Given the description of an element on the screen output the (x, y) to click on. 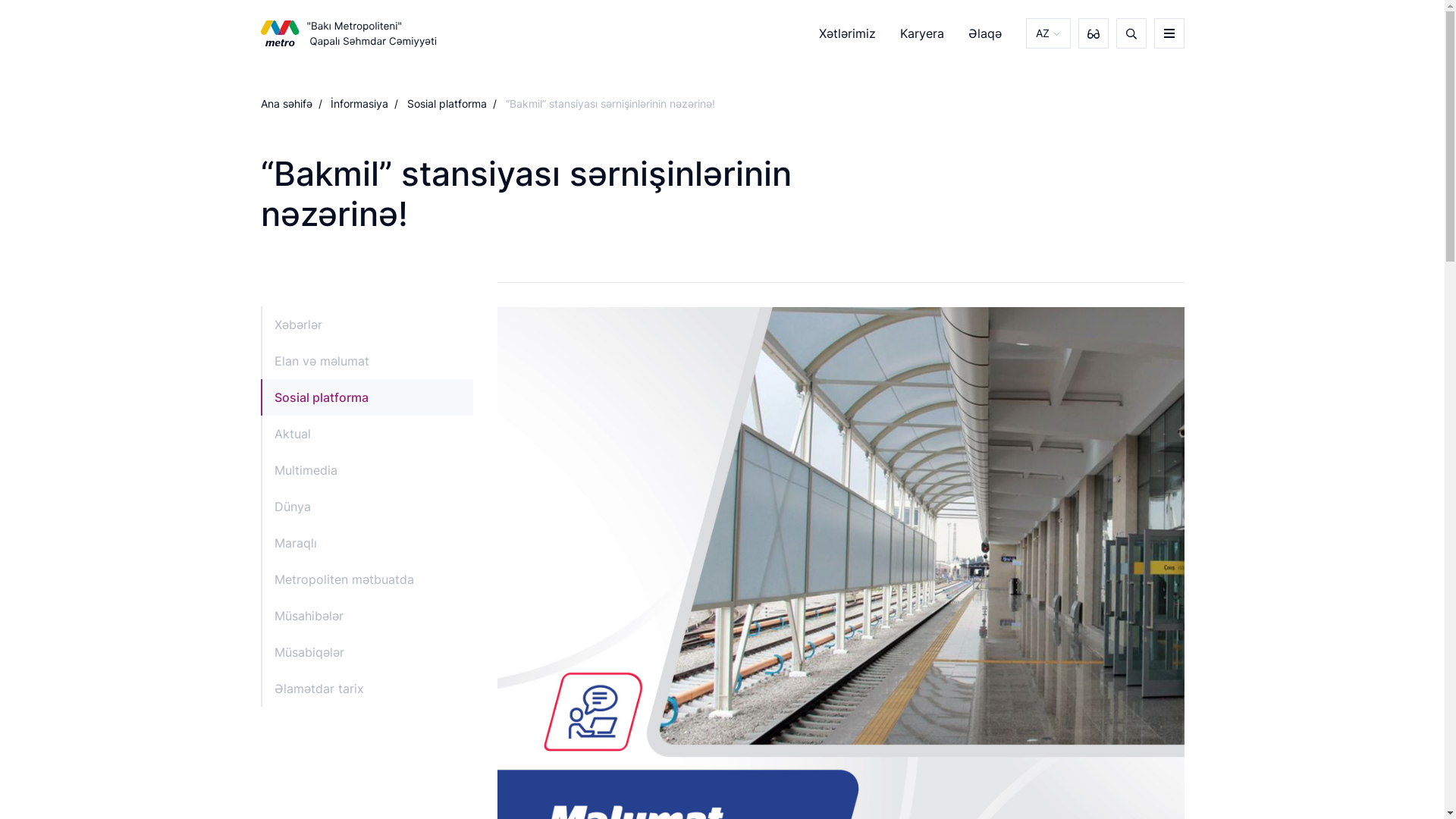
Sosial platforma Element type: text (366, 397)
AZ Element type: text (1047, 33)
Karyera Element type: text (921, 32)
Aktual Element type: text (366, 433)
Multimedia Element type: text (366, 469)
Sosial platforma Element type: text (454, 103)
